Given the description of an element on the screen output the (x, y) to click on. 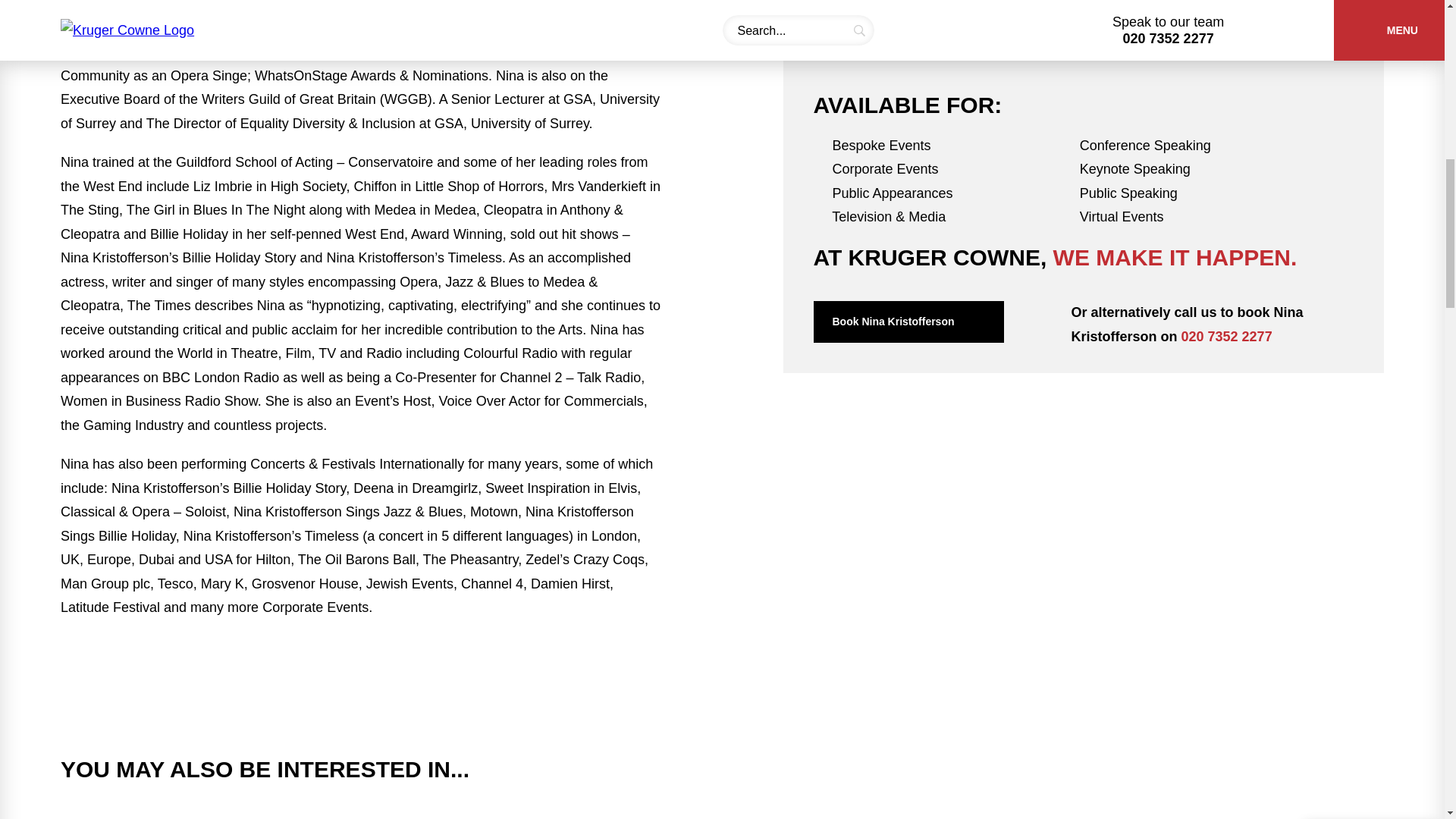
020 7352 2277 (1226, 337)
Your Shortlist (1370, 25)
Book Nina Kristofferson (907, 322)
